Given the description of an element on the screen output the (x, y) to click on. 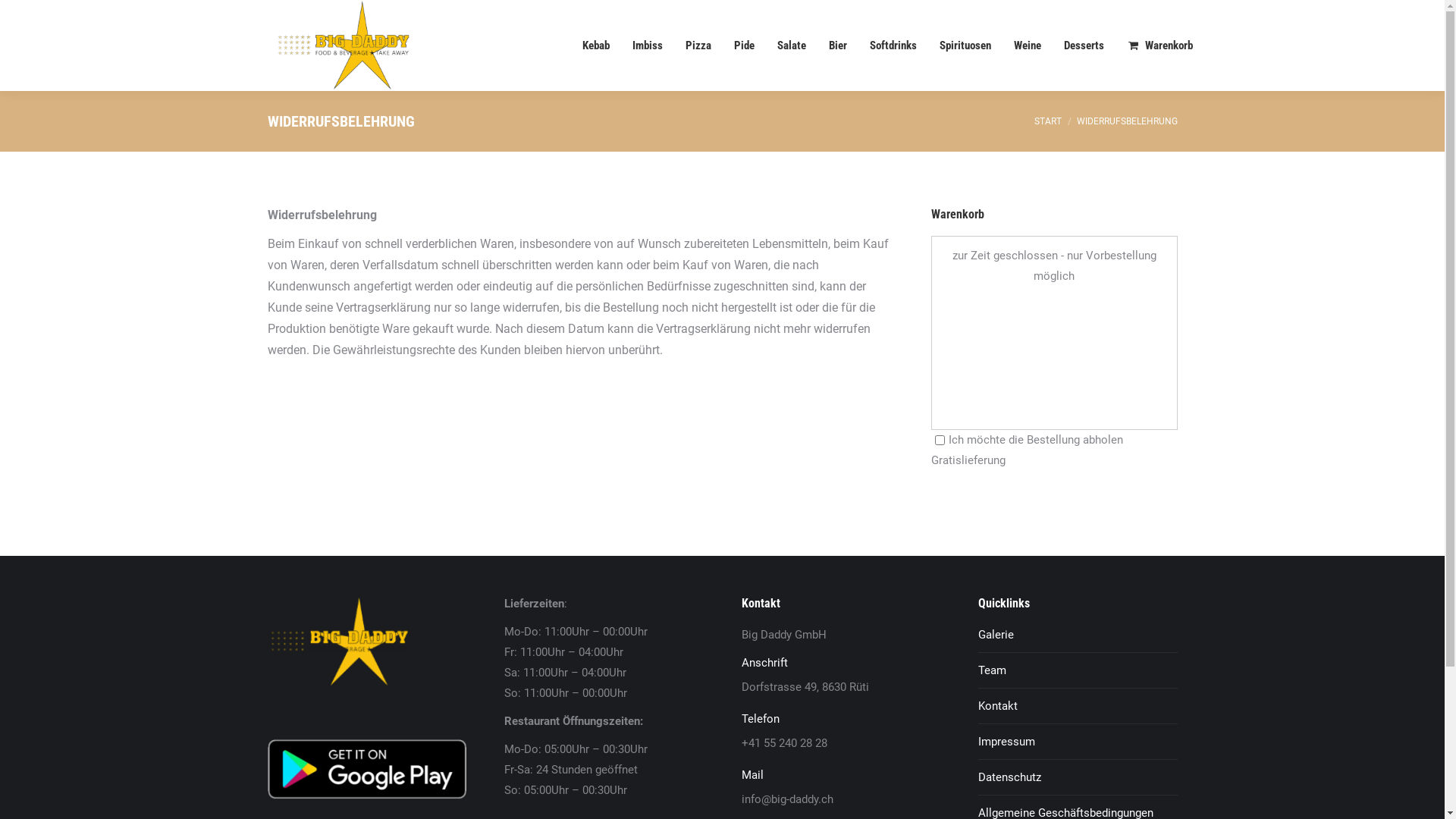
Imbiss Element type: text (647, 45)
Desserts Element type: text (1083, 45)
Pizza Element type: text (698, 45)
Salate Element type: text (791, 45)
Team Element type: text (992, 670)
Impressum Element type: text (1006, 741)
Warenkorb Element type: text (1159, 45)
Weine Element type: text (1027, 45)
Spirituosen Element type: text (965, 45)
START Element type: text (1047, 121)
Galerie Element type: text (995, 634)
Datenschutz Element type: text (1009, 777)
Pide Element type: text (744, 45)
Softdrinks Element type: text (892, 45)
Bier Element type: text (837, 45)
Kontakt Element type: text (997, 706)
Kebab Element type: text (595, 45)
